Given the description of an element on the screen output the (x, y) to click on. 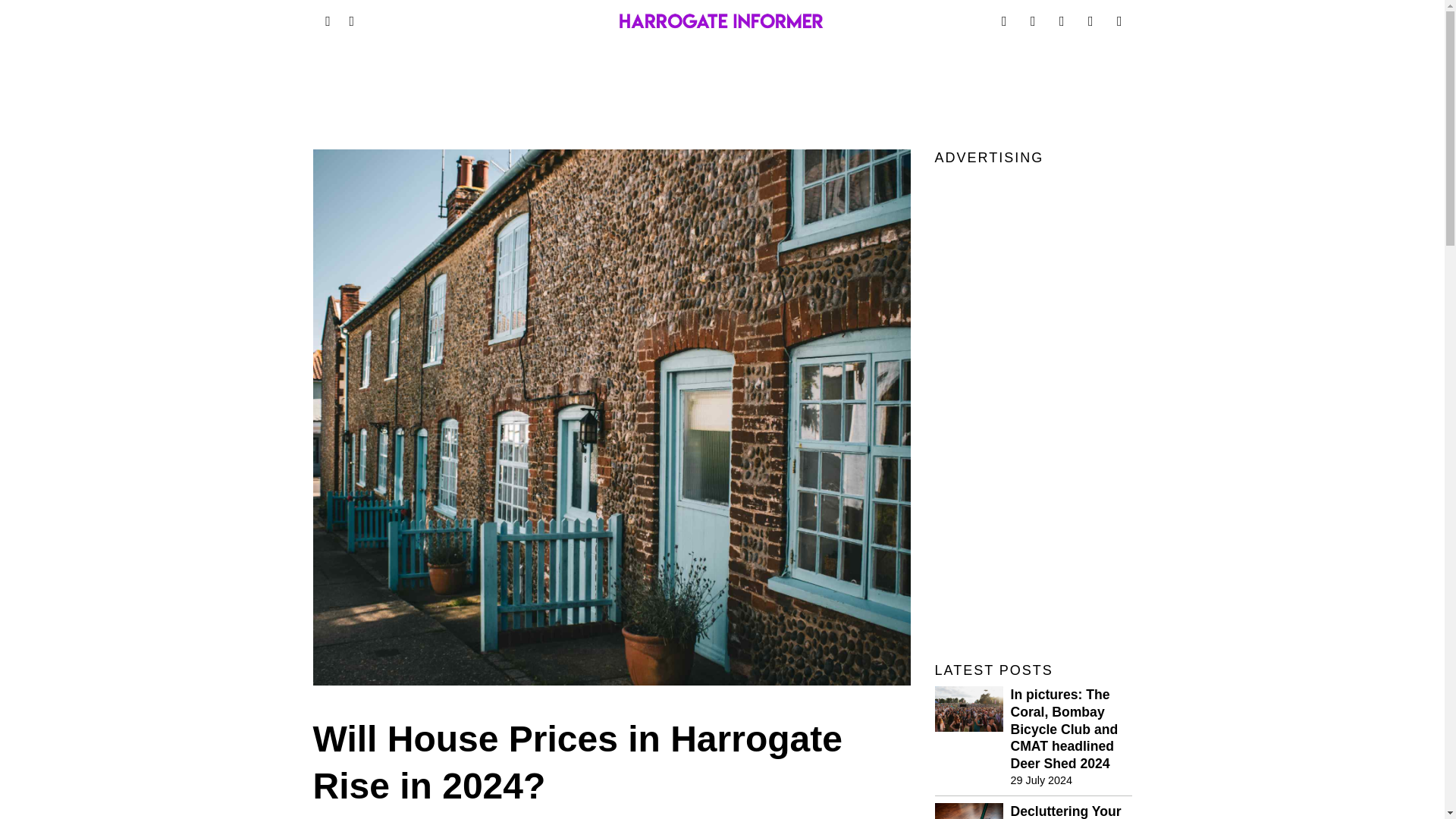
29 Jul, 2024 16:06:47 (1040, 780)
Decluttering Your Home: A Guide for Lawrenceville Homeowners (1070, 811)
